Given the description of an element on the screen output the (x, y) to click on. 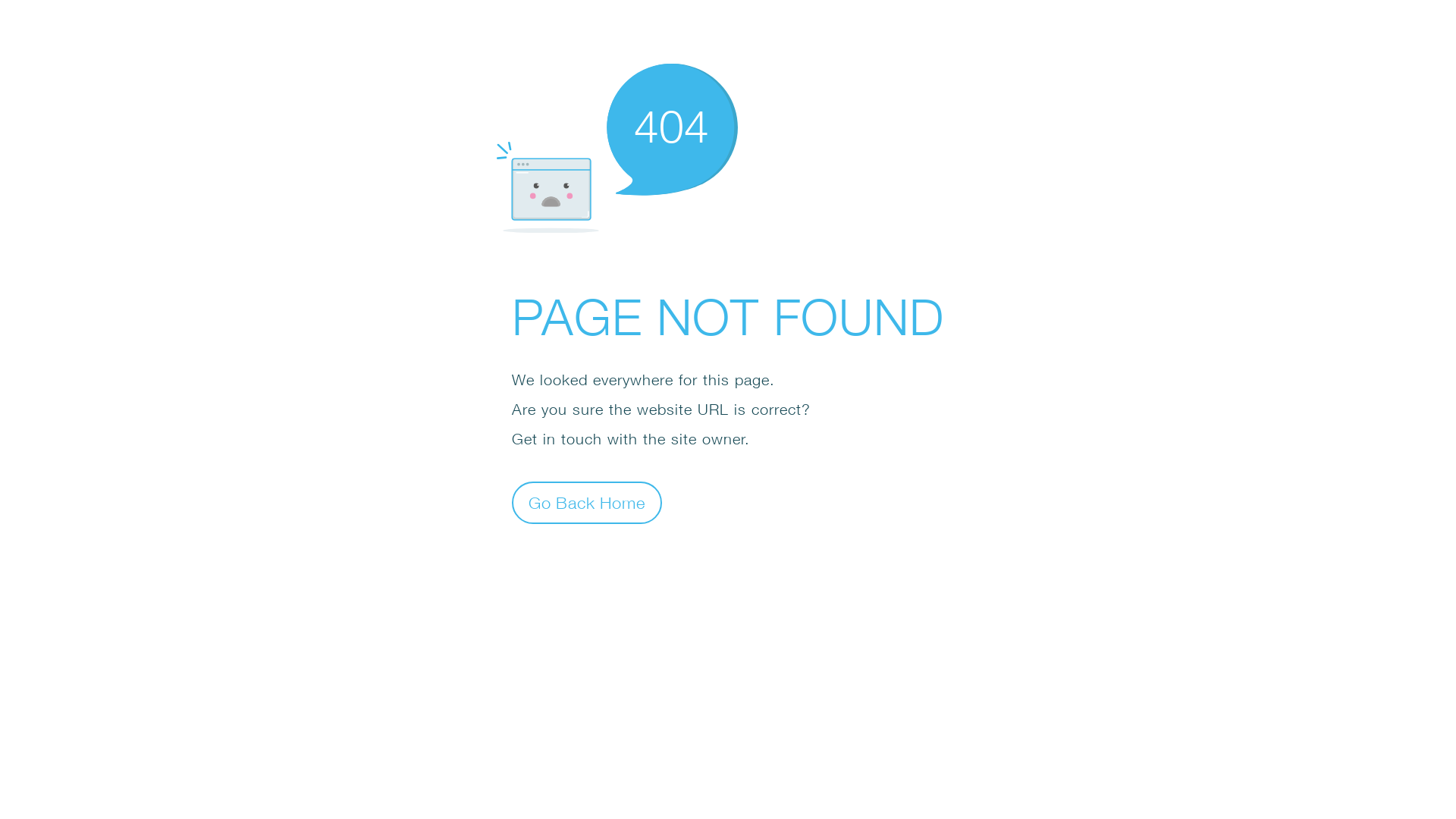
Go Back Home Element type: text (586, 502)
